Given the description of an element on the screen output the (x, y) to click on. 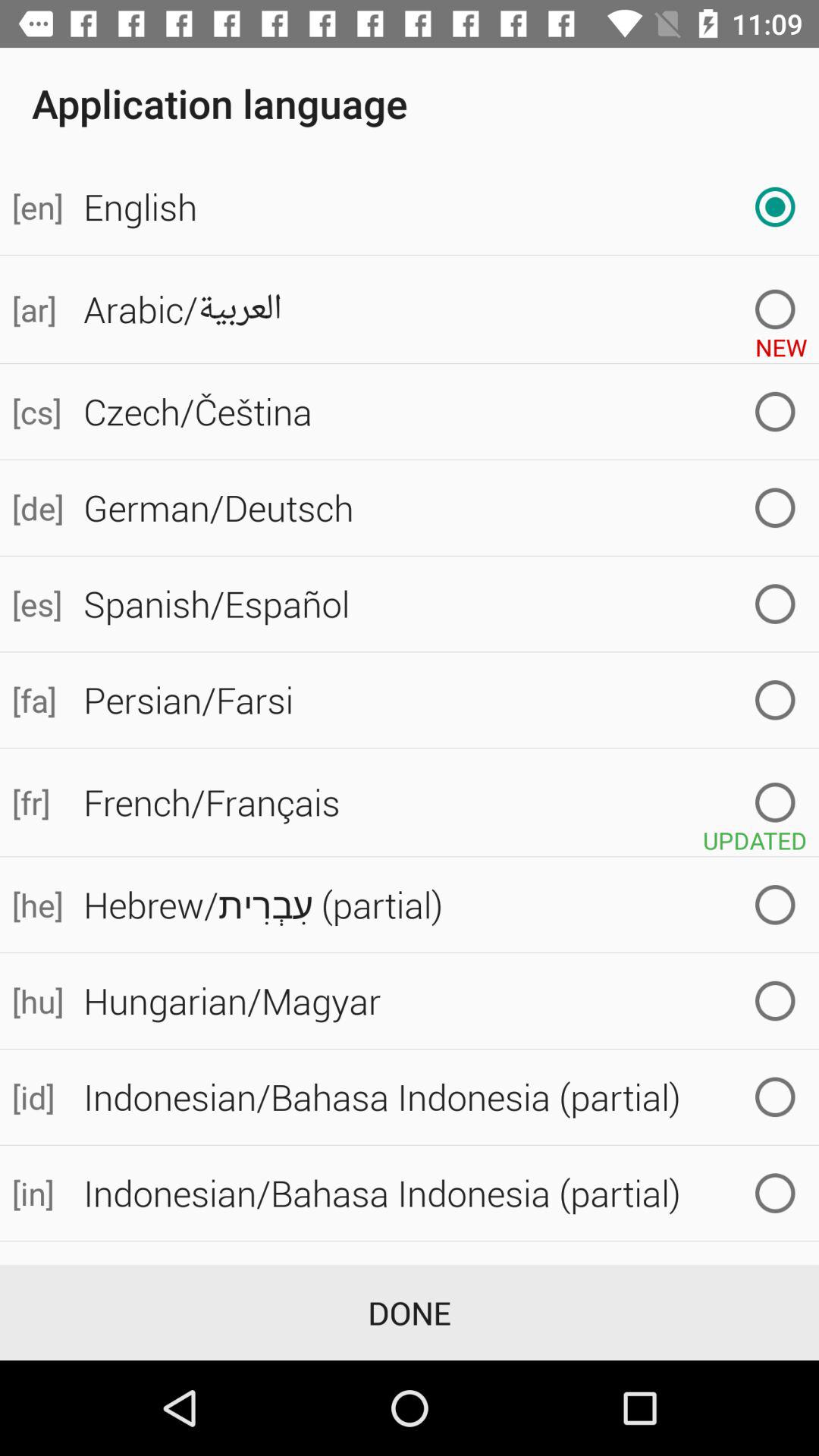
select item to the right of the [fr] (445, 802)
